Given the description of an element on the screen output the (x, y) to click on. 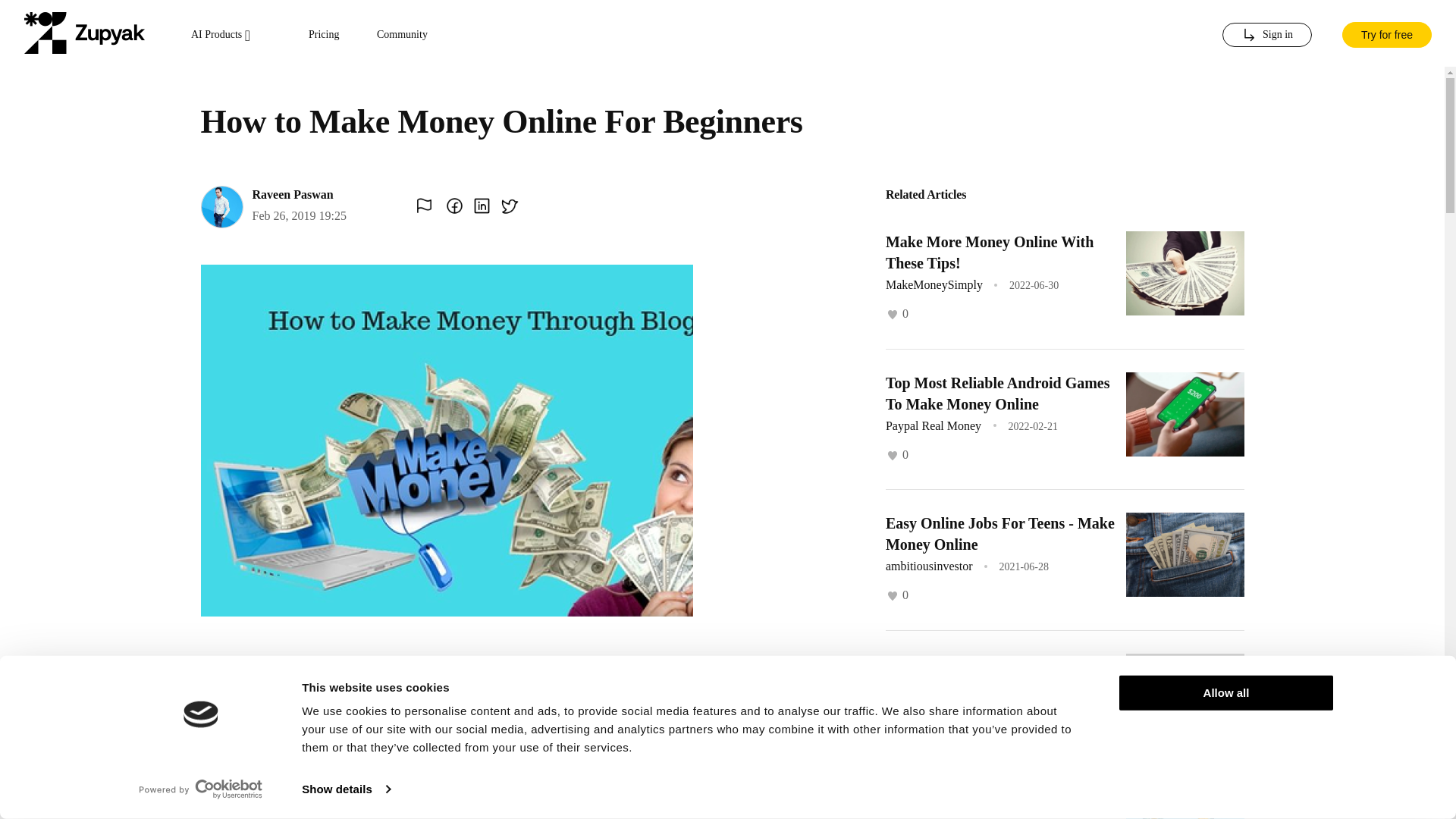
Easy Online Jobs For Teens - Make Money Online (1000, 533)
How to Make Money Through Blogging? (983, 673)
Make More Money Online With These Tips! (989, 252)
How to make money online: 20 proven ways (985, 807)
Show details (345, 789)
Top Most Reliable Android Games To Make Money Online (997, 393)
